Given the description of an element on the screen output the (x, y) to click on. 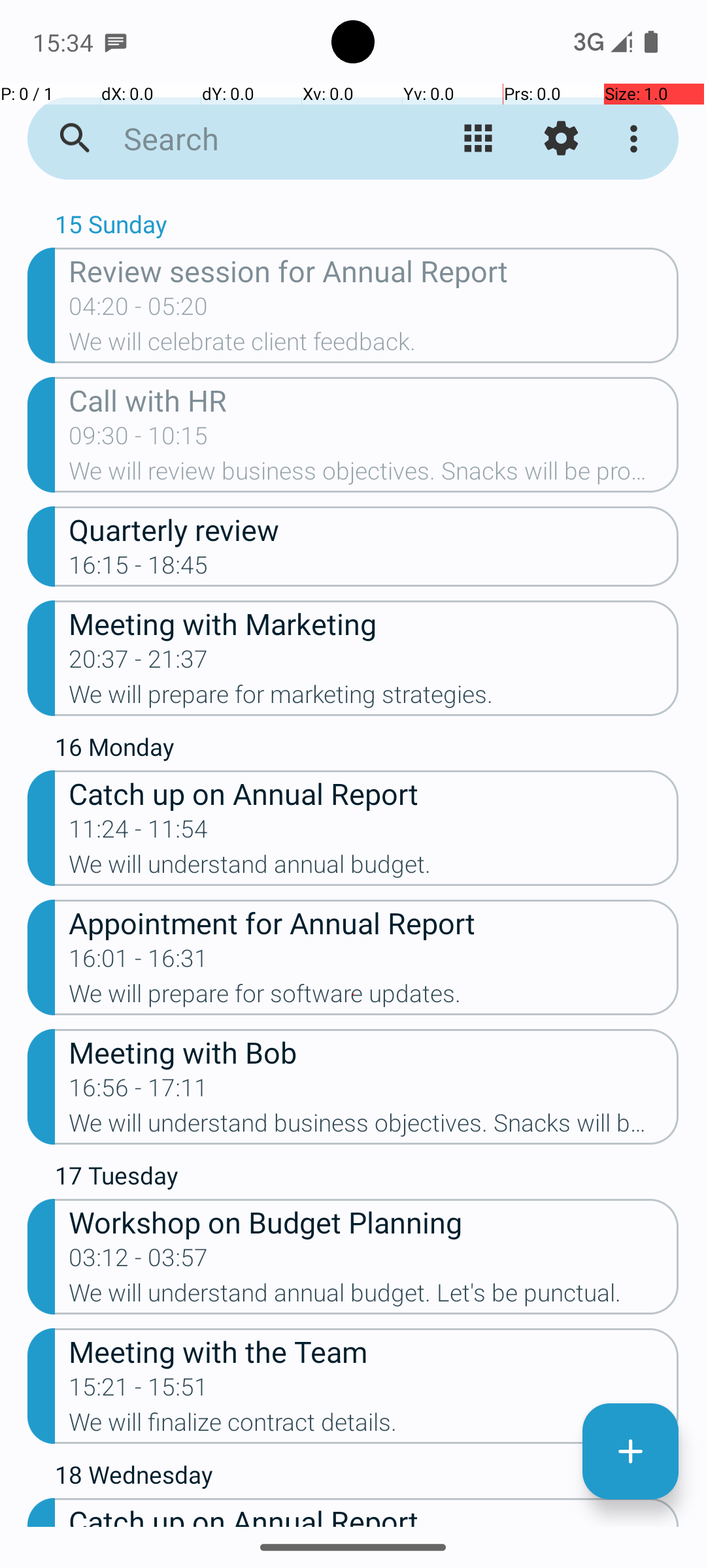
15 Sunday Element type: android.widget.TextView (366, 227)
16 Monday Element type: android.widget.TextView (366, 749)
17 Tuesday Element type: android.widget.TextView (366, 1178)
18 Wednesday Element type: android.widget.TextView (366, 1477)
Review session for Annual Report Element type: android.widget.TextView (373, 269)
04:20 - 05:20 Element type: android.widget.TextView (137, 309)
We will celebrate client feedback. Element type: android.widget.TextView (373, 345)
Call with HR Element type: android.widget.TextView (373, 399)
09:30 - 10:15 Element type: android.widget.TextView (137, 439)
We will review business objectives. Snacks will be provided. Element type: android.widget.TextView (373, 474)
Quarterly review Element type: android.widget.TextView (373, 528)
16:15 - 18:45 Element type: android.widget.TextView (137, 568)
Meeting with Marketing Element type: android.widget.TextView (373, 622)
20:37 - 21:37 Element type: android.widget.TextView (137, 662)
We will prepare for marketing strategies. Element type: android.widget.TextView (373, 698)
11:24 - 11:54 Element type: android.widget.TextView (137, 832)
We will understand annual budget. Element type: android.widget.TextView (373, 867)
Appointment for Annual Report Element type: android.widget.TextView (373, 921)
16:01 - 16:31 Element type: android.widget.TextView (137, 962)
We will prepare for software updates. Element type: android.widget.TextView (373, 997)
Meeting with Bob Element type: android.widget.TextView (373, 1051)
16:56 - 17:11 Element type: android.widget.TextView (137, 1091)
We will understand business objectives. Snacks will be provided. Element type: android.widget.TextView (373, 1126)
Workshop on Budget Planning Element type: android.widget.TextView (373, 1220)
03:12 - 03:57 Element type: android.widget.TextView (137, 1261)
We will understand annual budget. Let's be punctual. Element type: android.widget.TextView (373, 1296)
Meeting with the Team Element type: android.widget.TextView (373, 1350)
15:21 - 15:51 Element type: android.widget.TextView (137, 1390)
We will finalize contract details. Element type: android.widget.TextView (373, 1425)
